Given the description of an element on the screen output the (x, y) to click on. 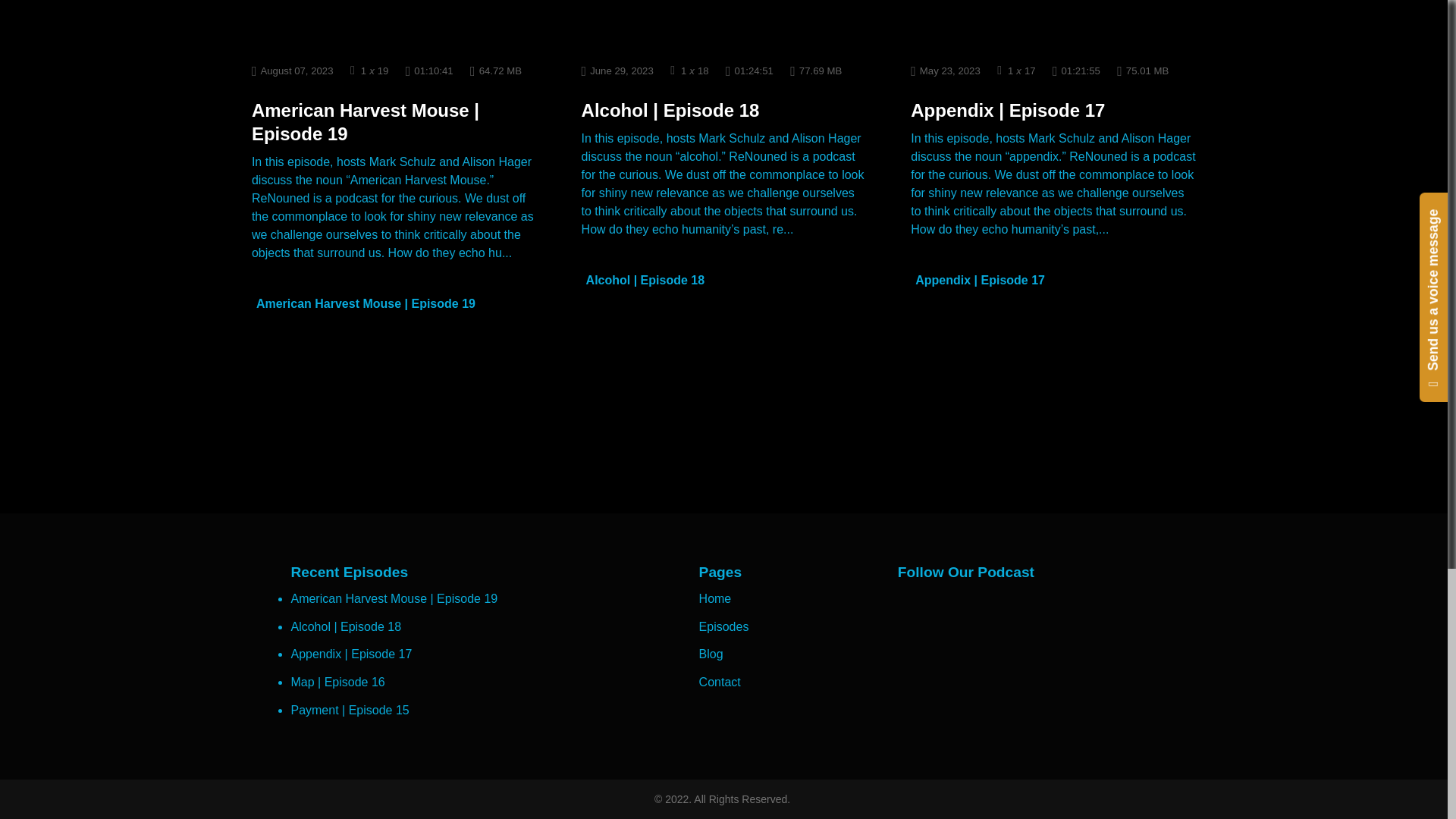
Date (616, 70)
Episode Weight (495, 70)
Date (292, 70)
Episode Duration (429, 70)
